Given the description of an element on the screen output the (x, y) to click on. 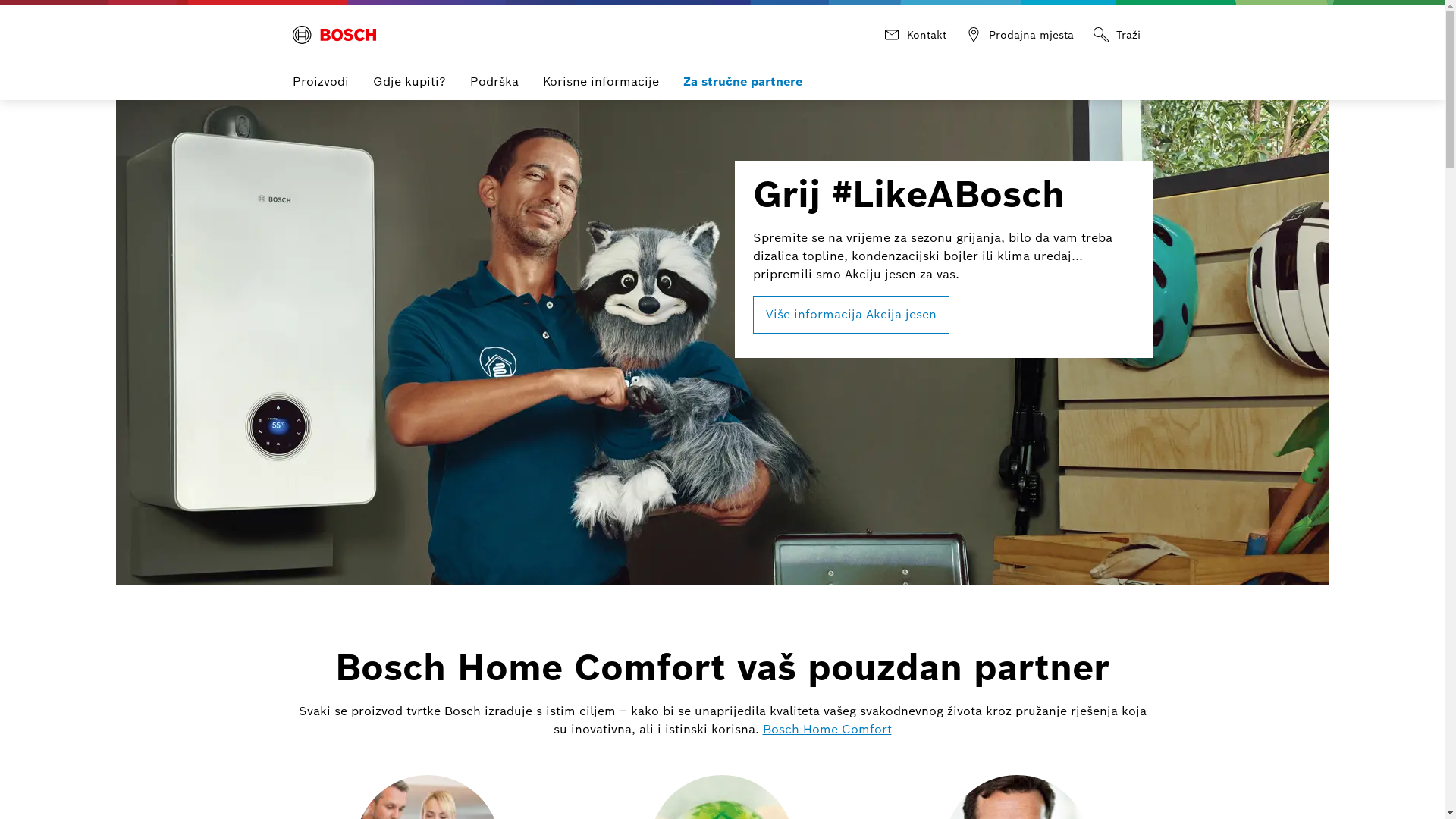
Gdje kupiti? Element type: text (409, 82)
Bosch Home Comfort Element type: text (826, 729)
Akcija jesen Grij #likeABosch Element type: hover (721, 342)
Korisne informacije Element type: text (600, 82)
Kontakt Element type: text (917, 34)
Prodajna mjesta Element type: text (1021, 34)
Bosch Home Comfort Element type: hover (334, 34)
Proizvodi Element type: text (320, 82)
